Given the description of an element on the screen output the (x, y) to click on. 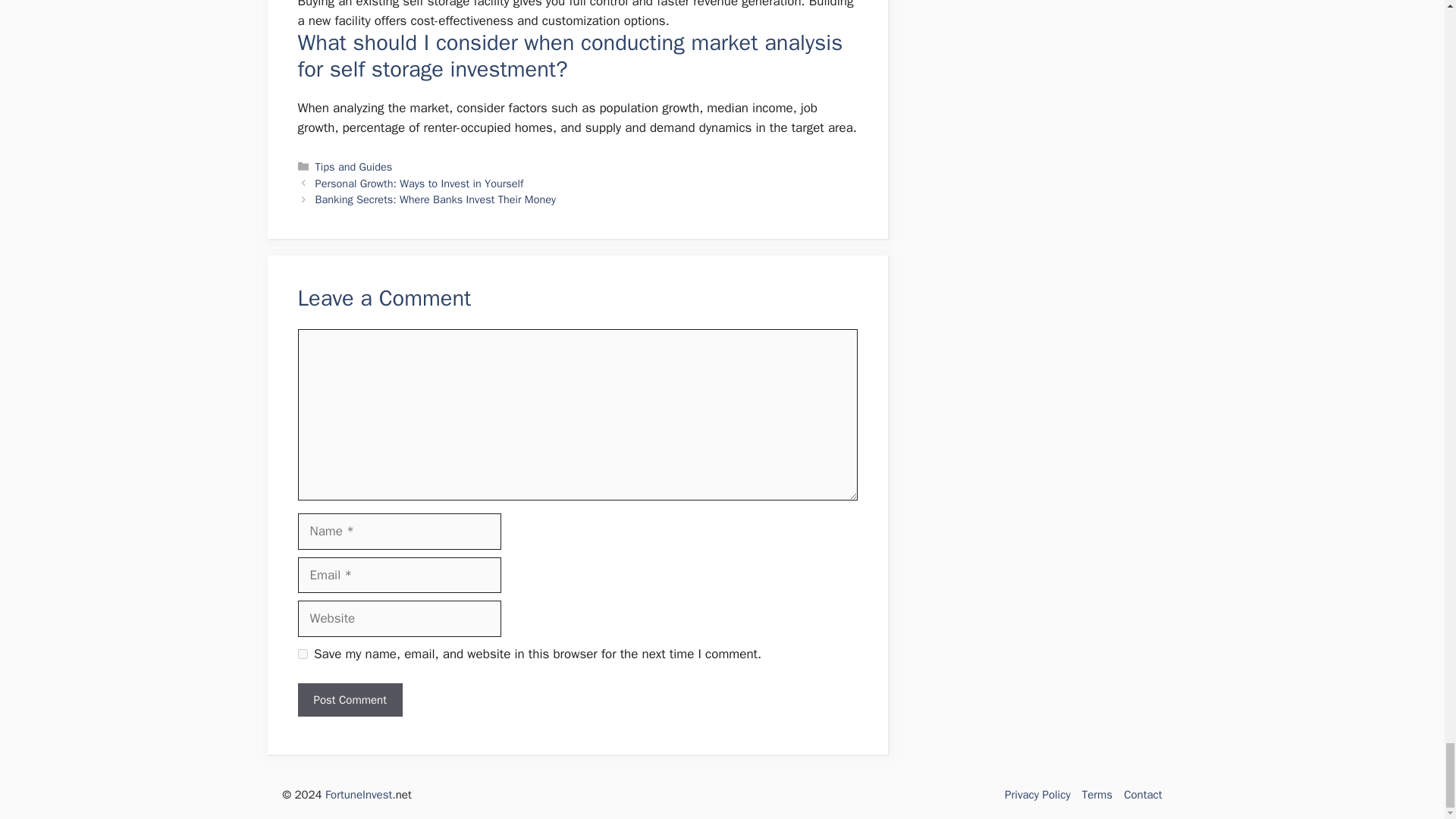
Post Comment (349, 700)
Personal Growth: Ways to Invest in Yourself (419, 183)
Banking Secrets: Where Banks Invest Their Money (435, 199)
FortuneInvest. (360, 794)
Post Comment (349, 700)
yes (302, 654)
Tips and Guides (354, 166)
